Given the description of an element on the screen output the (x, y) to click on. 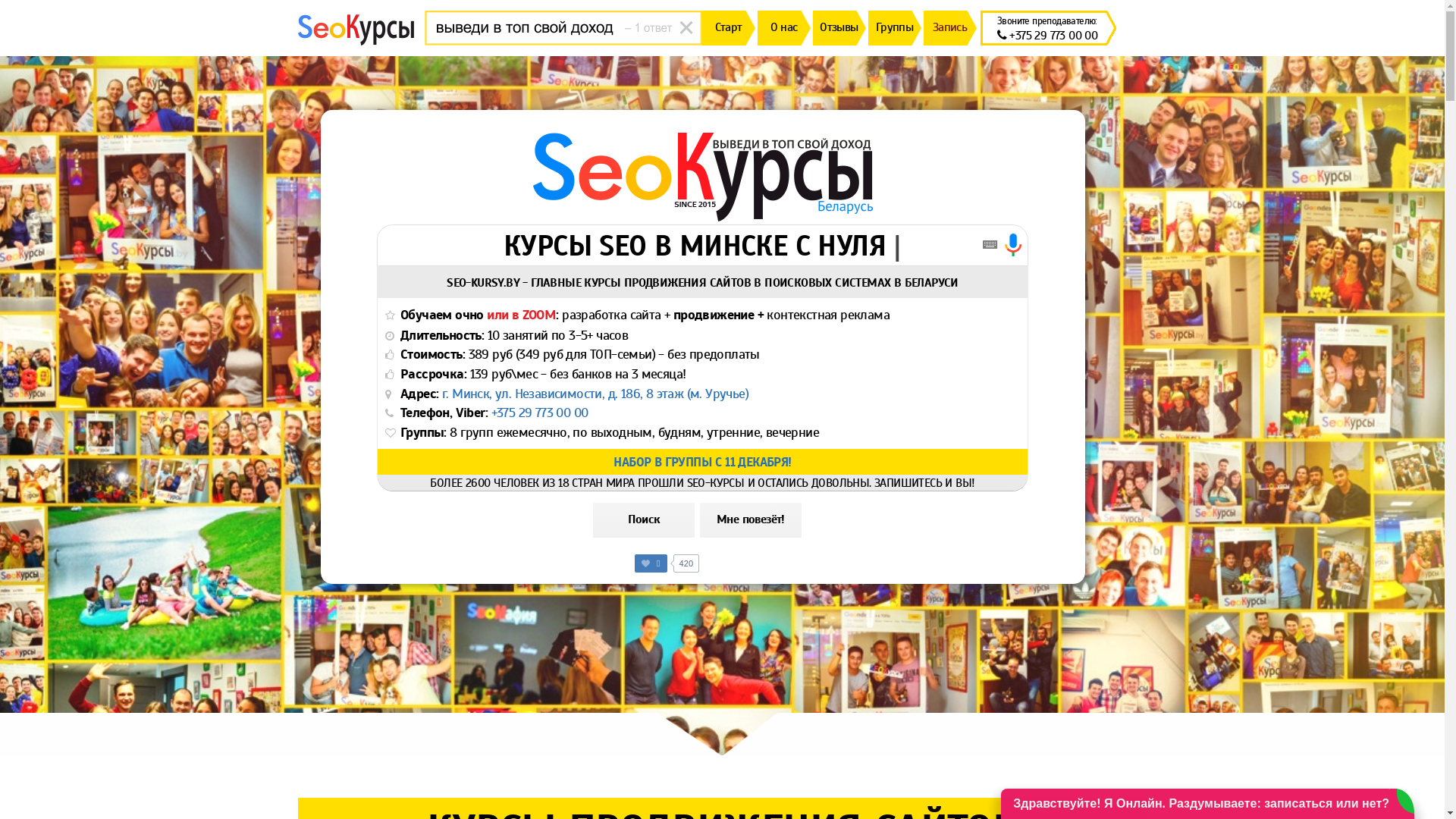
+375 29 773 00 00 Element type: text (1047, 34)
+375 29 773 00 00 Element type: text (539, 412)
